Given the description of an element on the screen output the (x, y) to click on. 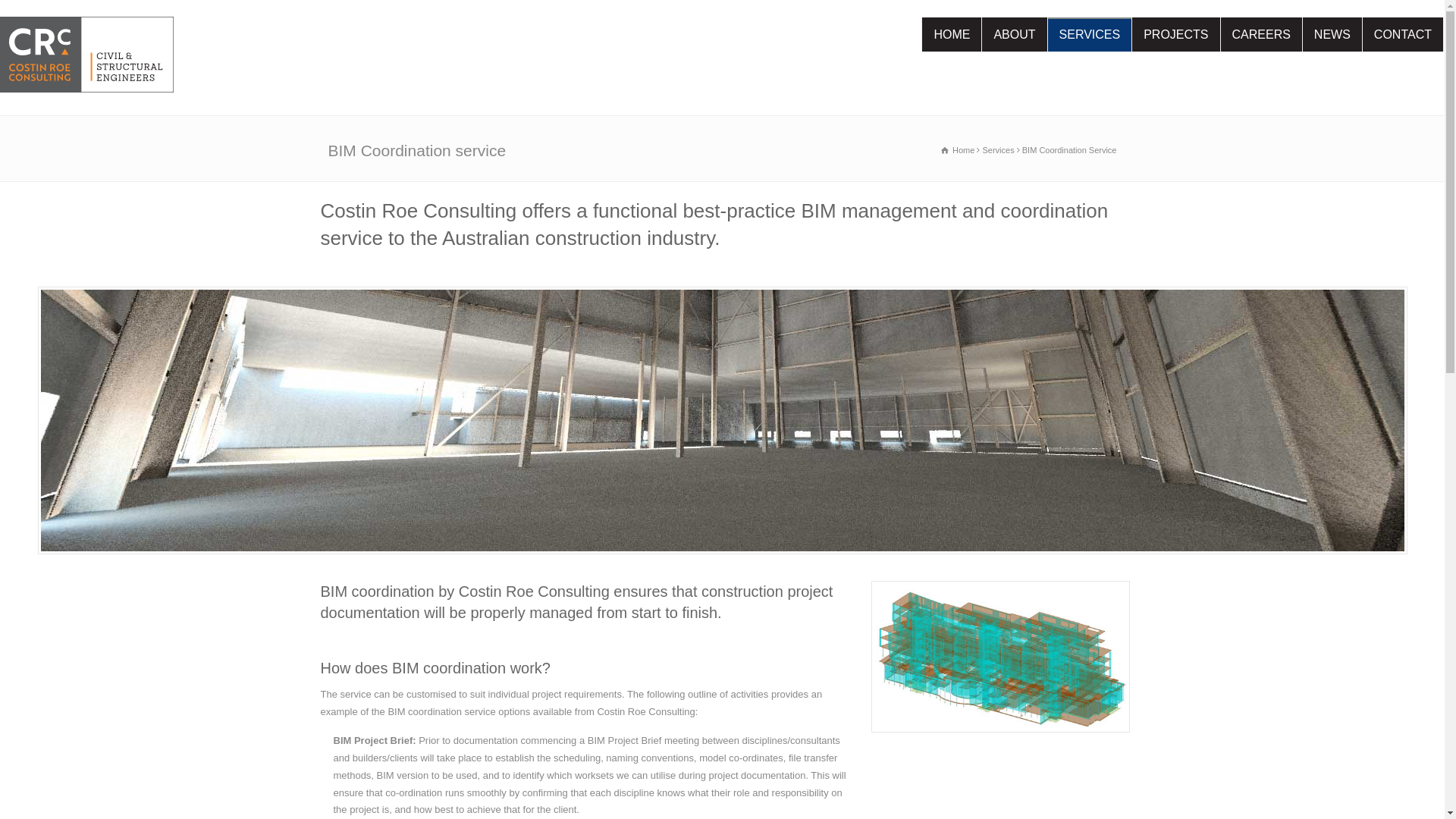
ABOUT Element type: text (1014, 34)
SERVICES Element type: text (1090, 34)
CONTACT Element type: text (1402, 34)
Accent-Apartments-Structural-Analysis-03 Element type: hover (1000, 656)
Costin Roe Consulting | Civil & Structural Engineers Element type: hover (86, 61)
HOME Element type: text (951, 34)
NEWS Element type: text (1331, 34)
CAREERS Element type: text (1261, 34)
PROJECTS Element type: text (1175, 34)
Home Element type: text (957, 149)
Services Element type: text (997, 149)
